Given the description of an element on the screen output the (x, y) to click on. 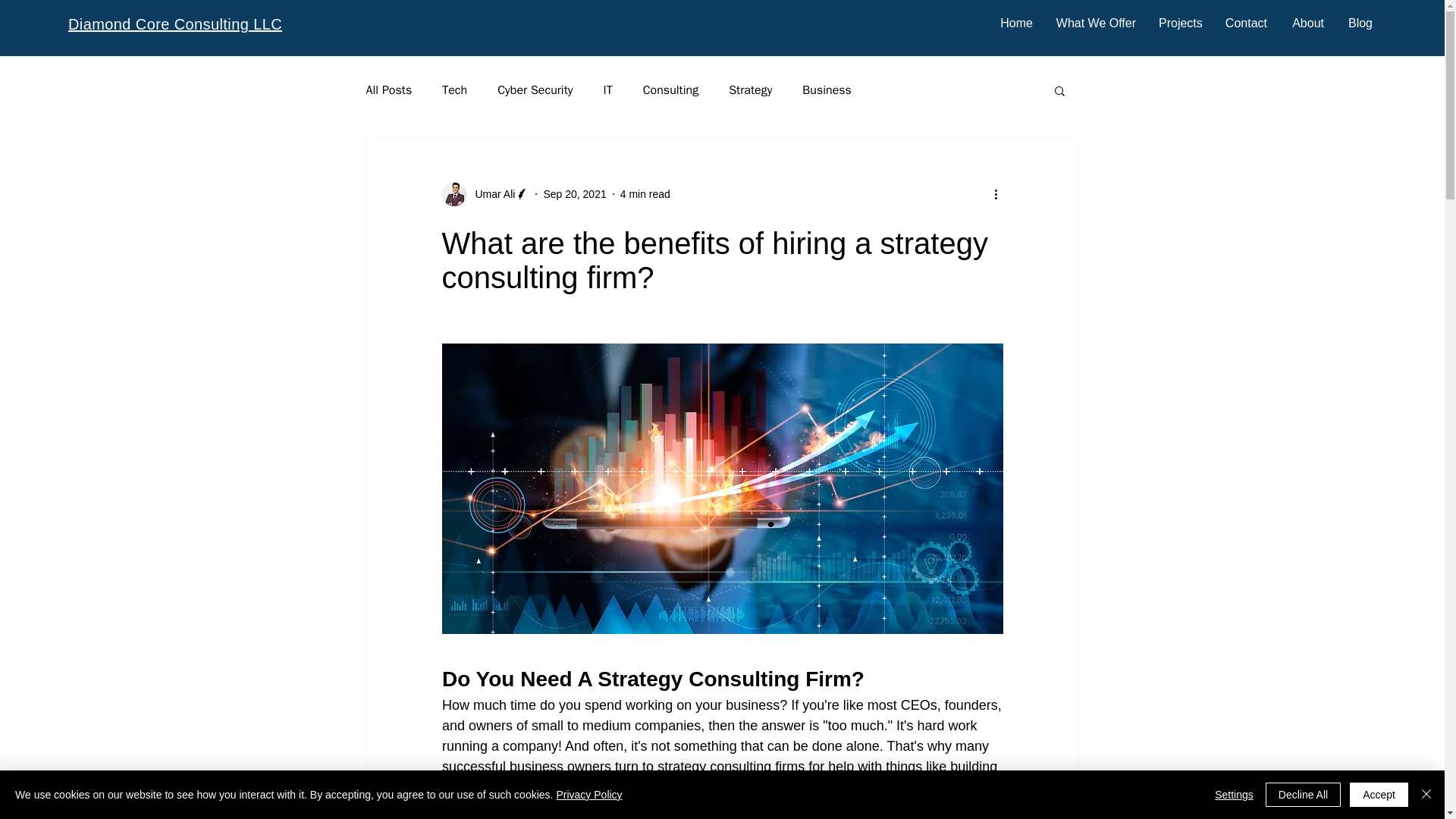
What We Offer (1095, 23)
4 min read (644, 193)
Projects (1179, 23)
Sep 20, 2021 (574, 193)
Consulting (670, 89)
Strategy (750, 89)
Contact (1245, 23)
Home (1015, 23)
Umar Ali (490, 194)
About (1306, 23)
